Given the description of an element on the screen output the (x, y) to click on. 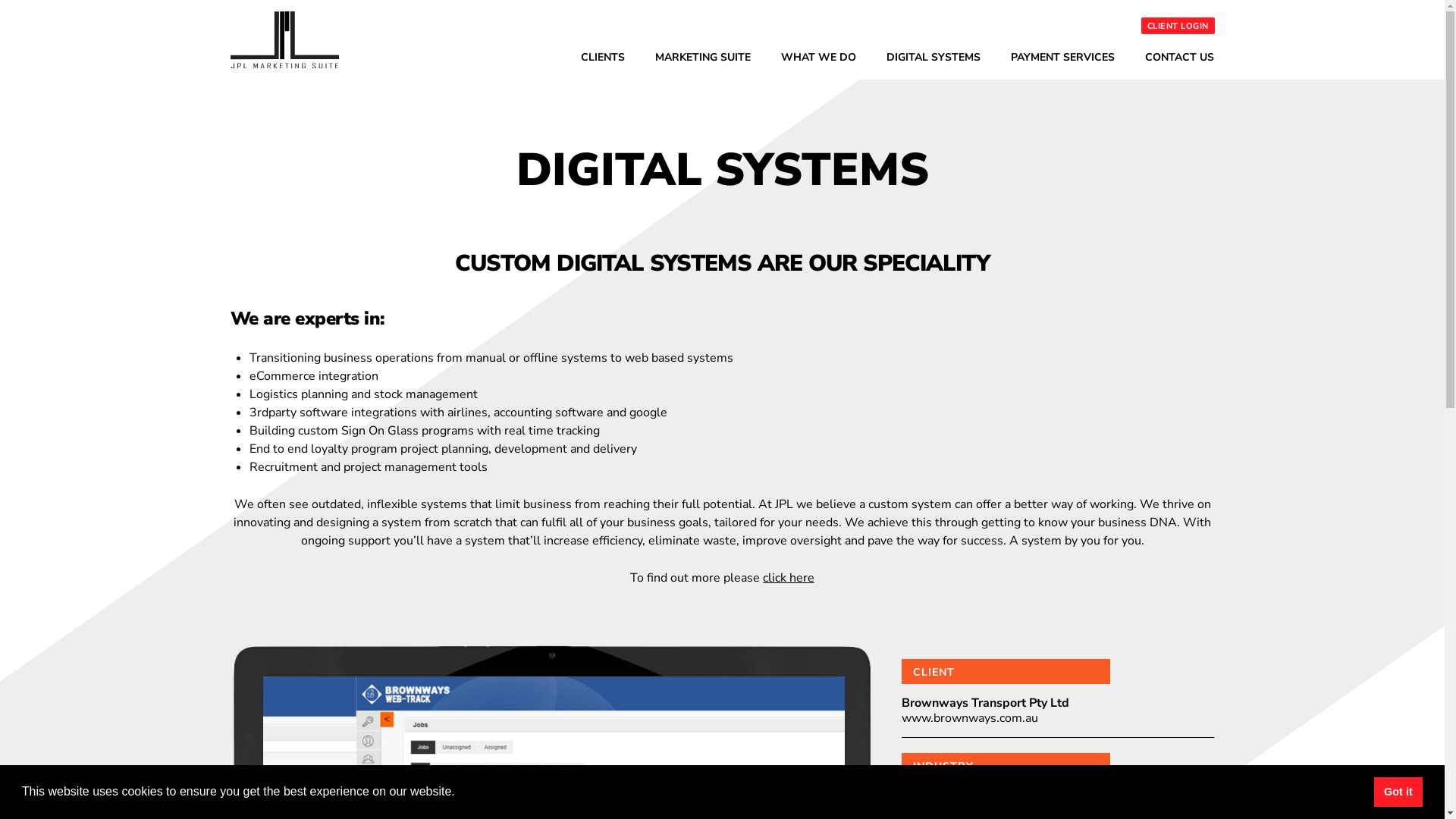
www.brownways.com.au Element type: text (969, 717)
click here Element type: text (788, 577)
CLIENTS Element type: text (602, 56)
CLIENT LOGIN Element type: text (1177, 25)
Got it Element type: text (1398, 791)
CONTACT US Element type: text (1179, 56)
DIGITAL SYSTEMS Element type: text (932, 56)
WHAT WE DO Element type: text (818, 56)
PAYMENT SERVICES Element type: text (1061, 56)
MARKETING SUITE Element type: text (702, 56)
